Given the description of an element on the screen output the (x, y) to click on. 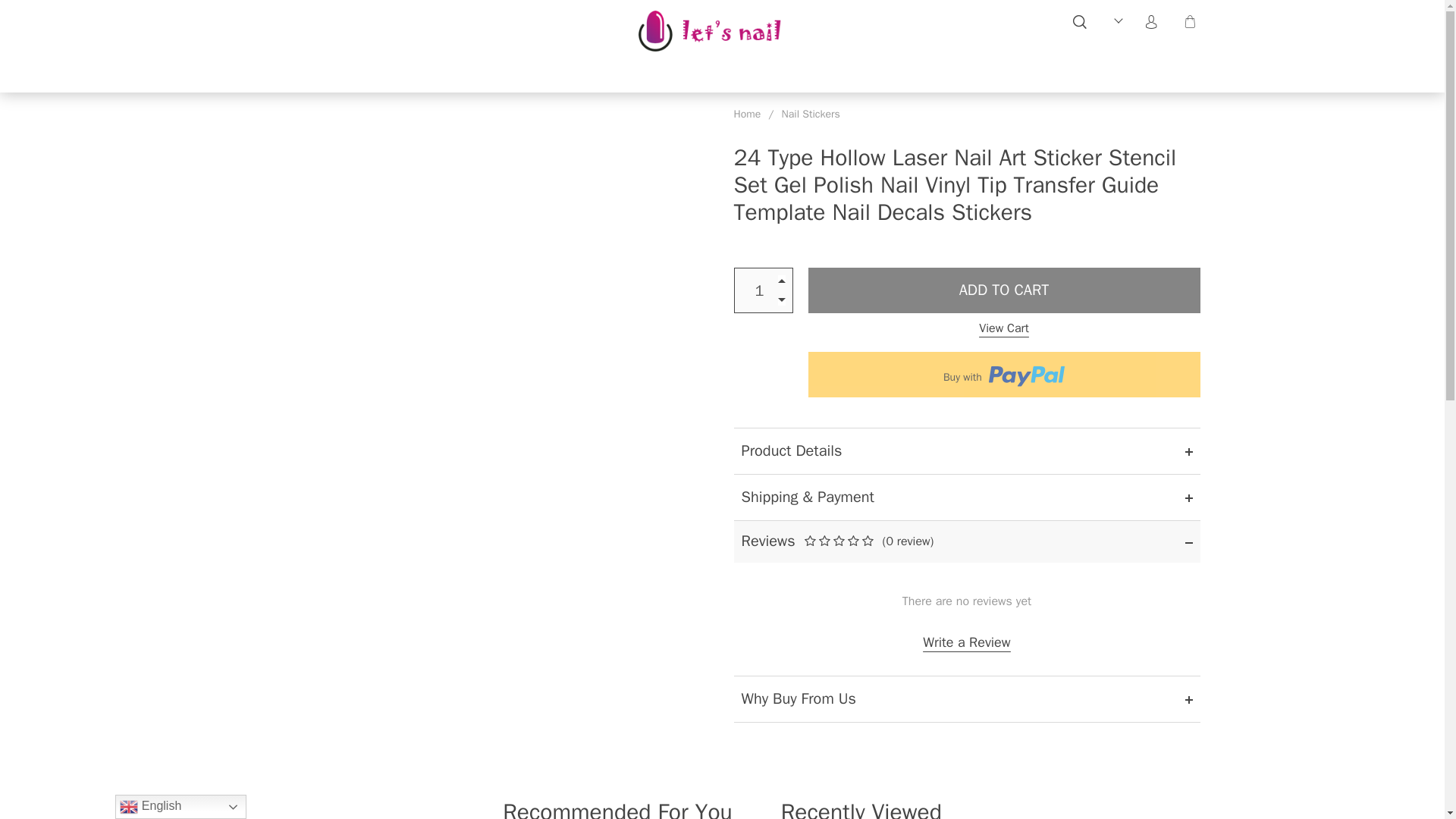
Nail Stickers (810, 113)
ADD TO CART (1003, 289)
Home (747, 114)
1 (763, 289)
